Given the description of an element on the screen output the (x, y) to click on. 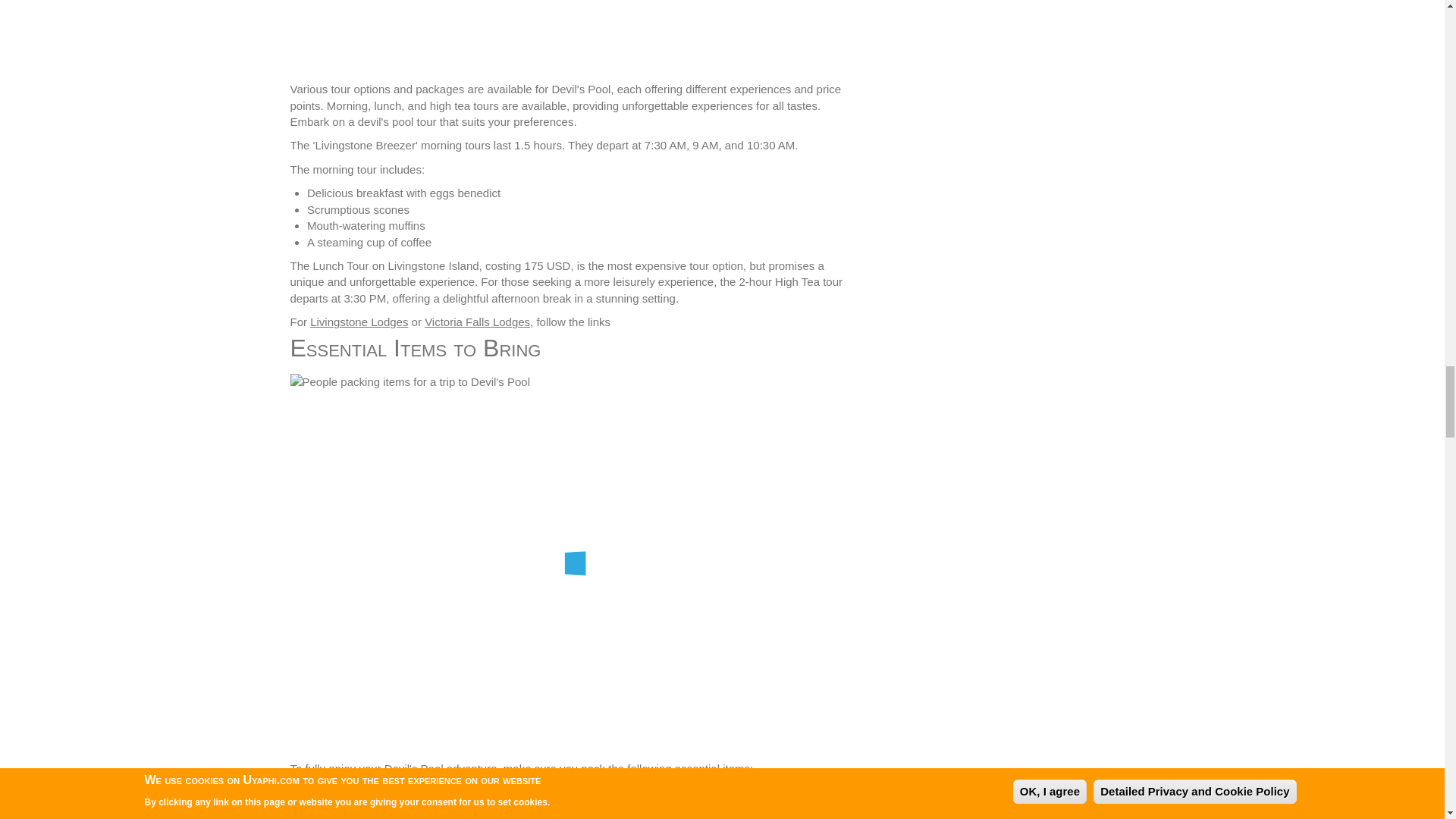
Livingstone Lodges (358, 321)
Victoria Falls Lodges (477, 321)
